Given the description of an element on the screen output the (x, y) to click on. 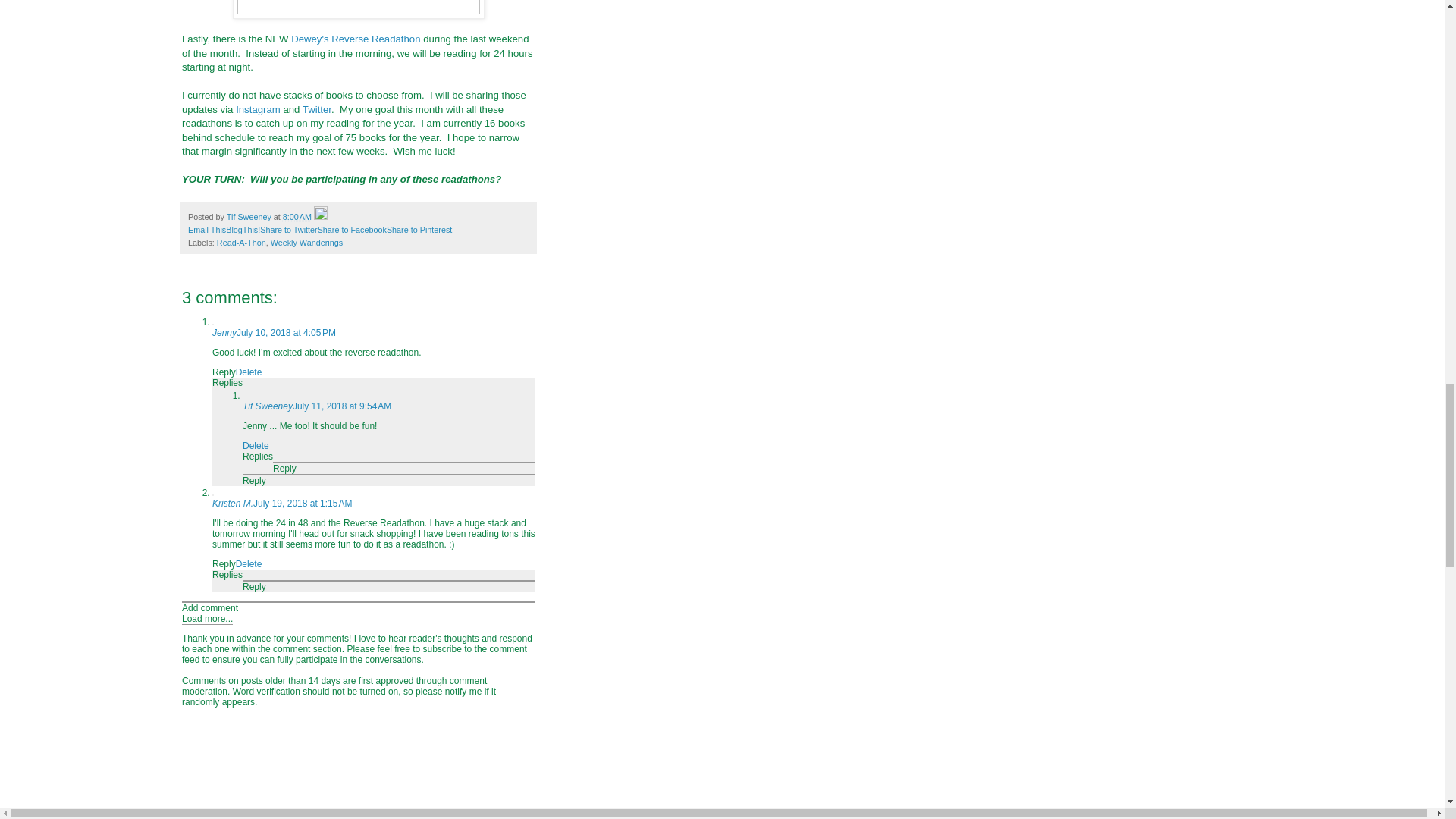
BlogThis! (242, 229)
Delete (248, 371)
Read-A-Thon (241, 242)
Email This (206, 229)
Instagram (258, 109)
Email This (206, 229)
Share to Pinterest (419, 229)
Dewey's Reverse Readathon (355, 39)
Replies (227, 382)
Tif Sweeney (267, 406)
permanent link (296, 216)
Share to Twitter (288, 229)
Kristen M. (232, 502)
